Given the description of an element on the screen output the (x, y) to click on. 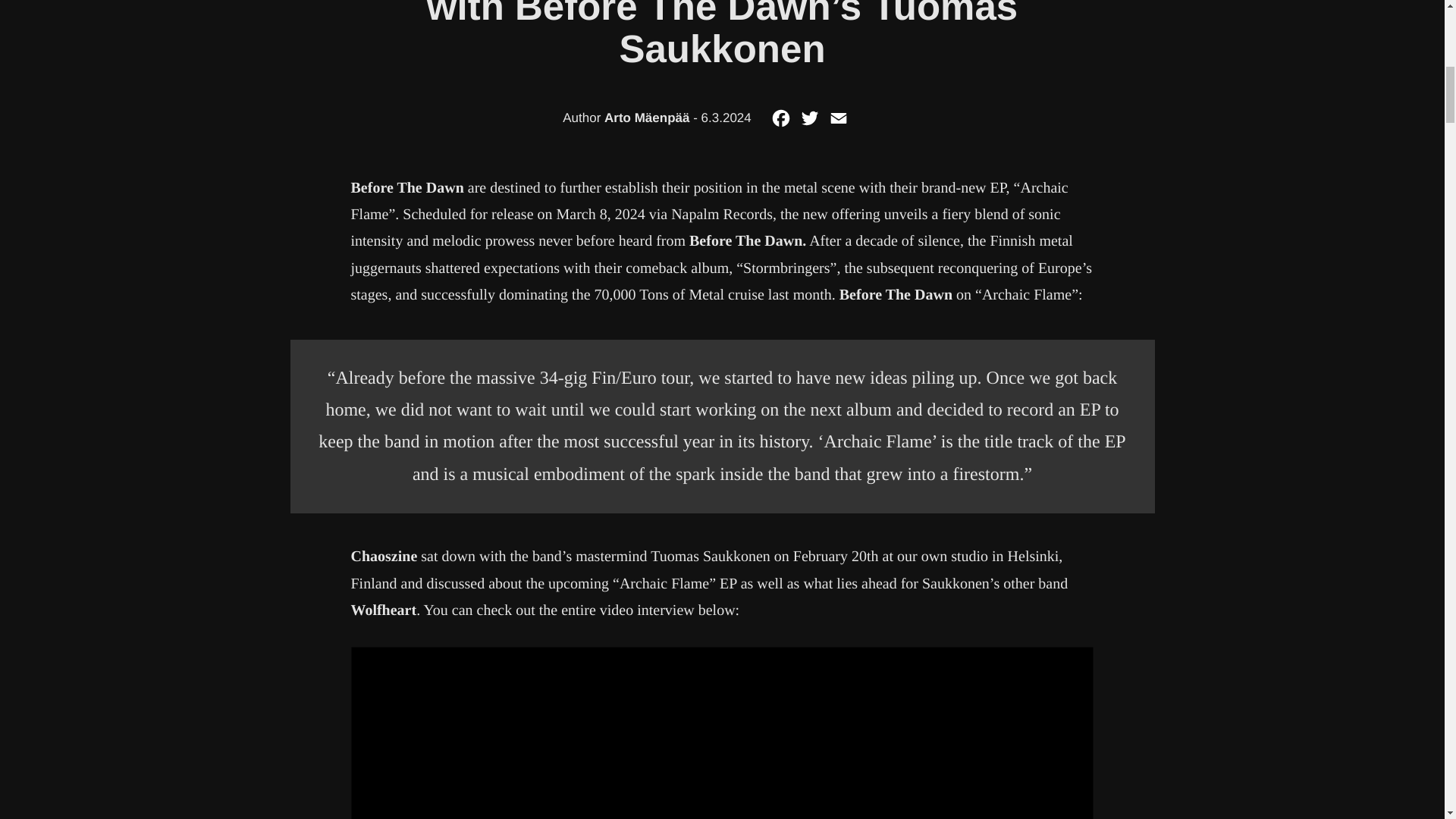
Twitter (809, 122)
Facebook (780, 122)
Copy Link (867, 122)
Email (838, 122)
Email (838, 122)
Twitter (809, 122)
Facebook (780, 122)
Copy Link (867, 122)
